Given the description of an element on the screen output the (x, y) to click on. 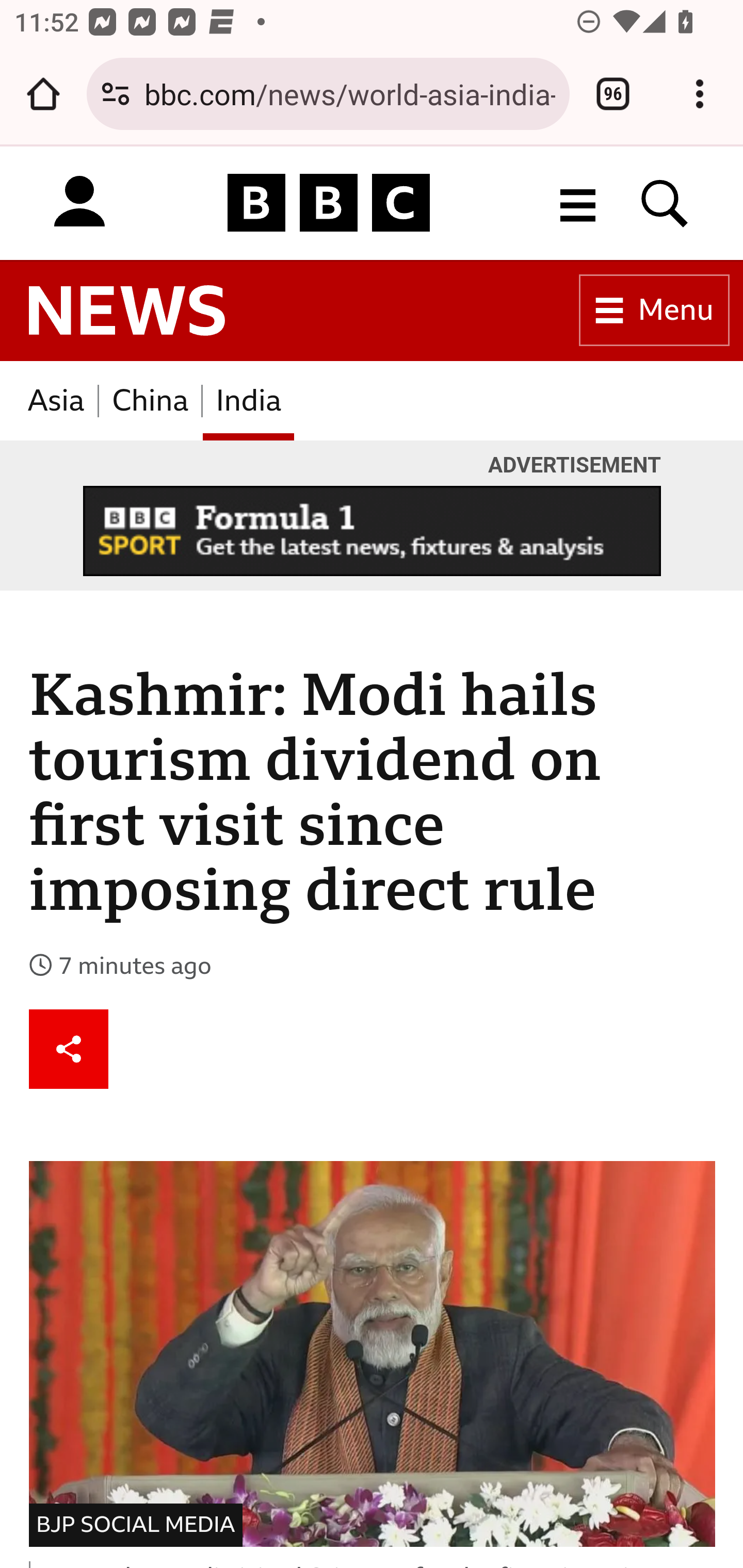
Open the home page (43, 93)
Connection is secure (115, 93)
Switch or close tabs (612, 93)
Customize and control Google Chrome (699, 93)
bbc.com/news/world-asia-india-68487461 (349, 92)
Sign in (79, 202)
BBC Homepage (329, 202)
More menu (578, 202)
Search BBC (665, 202)
BBC News (126, 311)
Menu (654, 310)
Asia (56, 400)
China (150, 400)
India (249, 400)
Share (68, 1047)
